Given the description of an element on the screen output the (x, y) to click on. 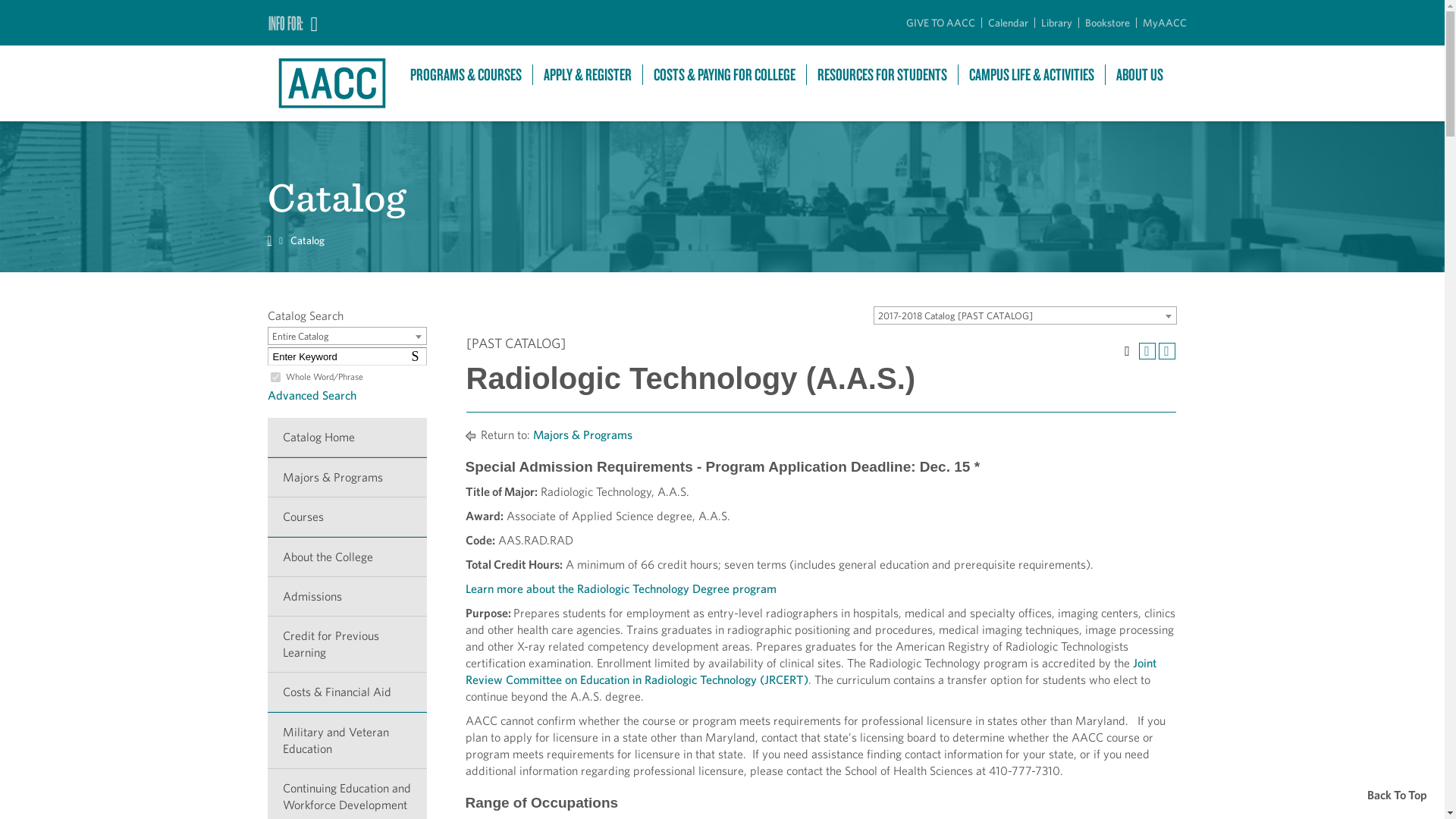
Credit for Previous Learning (346, 644)
Calendar (1007, 22)
Choose Search Location (346, 335)
INFO FOR: (296, 22)
Entire Catalog (346, 336)
Military and Veteran Education (346, 740)
Continuing Education and Workforce Development (346, 794)
Library (1055, 22)
Advanced Search (310, 395)
GO (16, 9)
GIVE TO AACC (939, 22)
RESOURCES FOR STUDENTS (882, 74)
About the College (346, 557)
Enter Keyword   (346, 356)
